Given the description of an element on the screen output the (x, y) to click on. 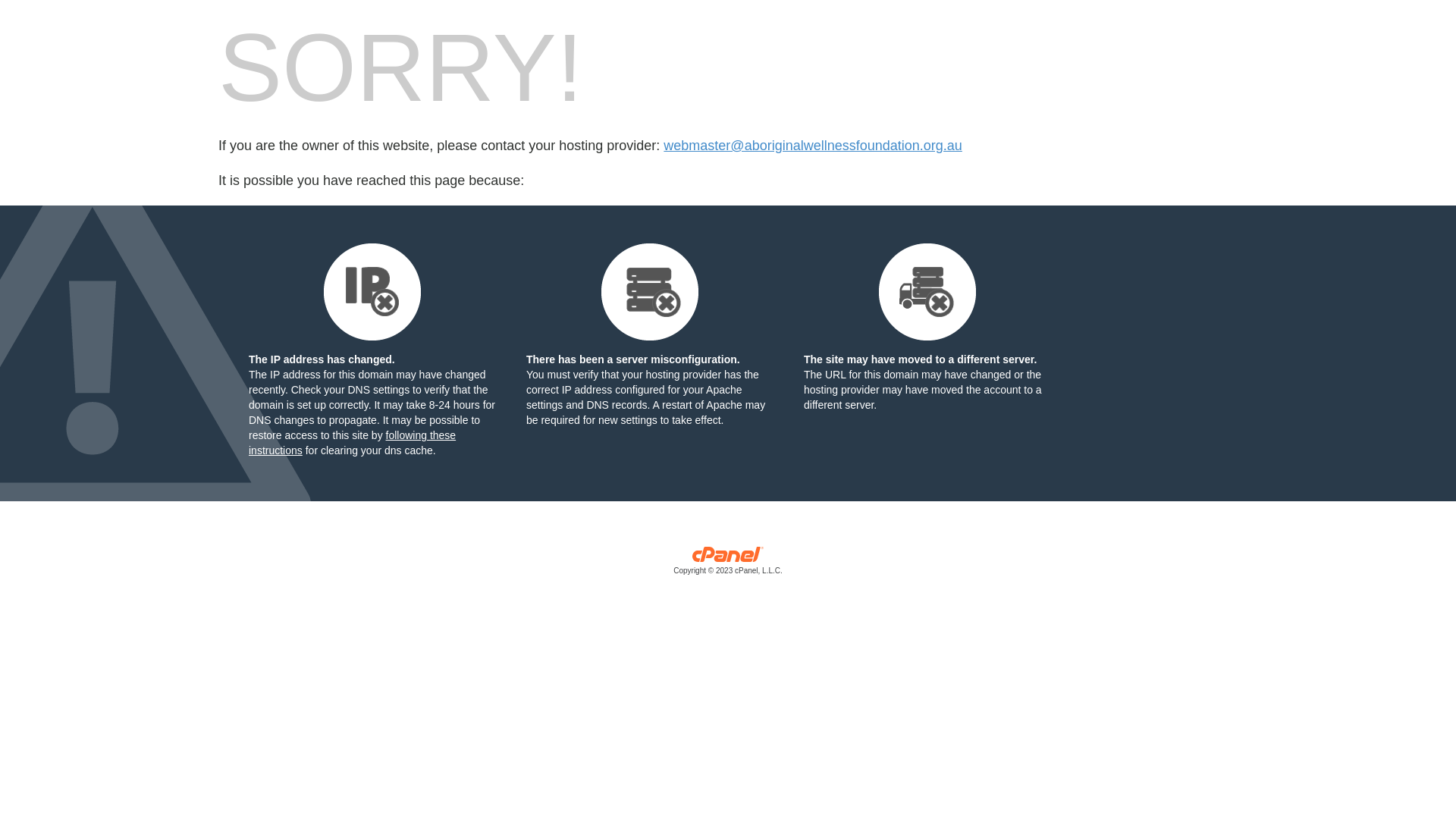
webmaster@aboriginalwellnessfoundation.org.au Element type: text (812, 145)
following these instructions Element type: text (351, 442)
